Given the description of an element on the screen output the (x, y) to click on. 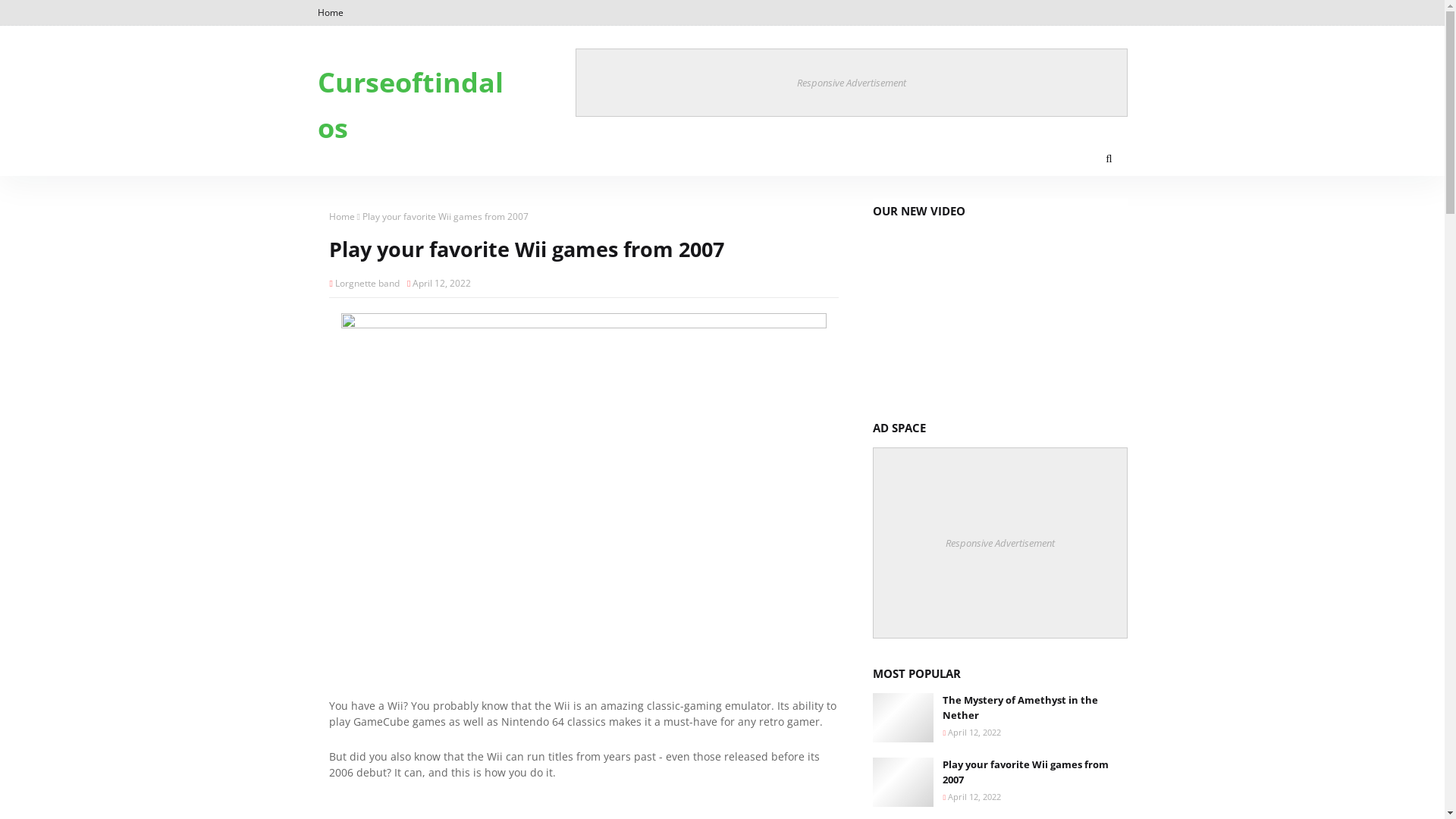
Home Element type: text (341, 216)
Curseoftindalos Element type: text (409, 104)
Home Element type: text (331, 12)
Responsive Advertisement Element type: text (999, 542)
The Mystery of Amethyst in the Nether Element type: text (1033, 707)
Responsive Advertisement Element type: text (850, 82)
Play your favorite Wii games from 2007 Element type: text (1033, 772)
Lorgnette band Element type: text (367, 282)
